Given the description of an element on the screen output the (x, y) to click on. 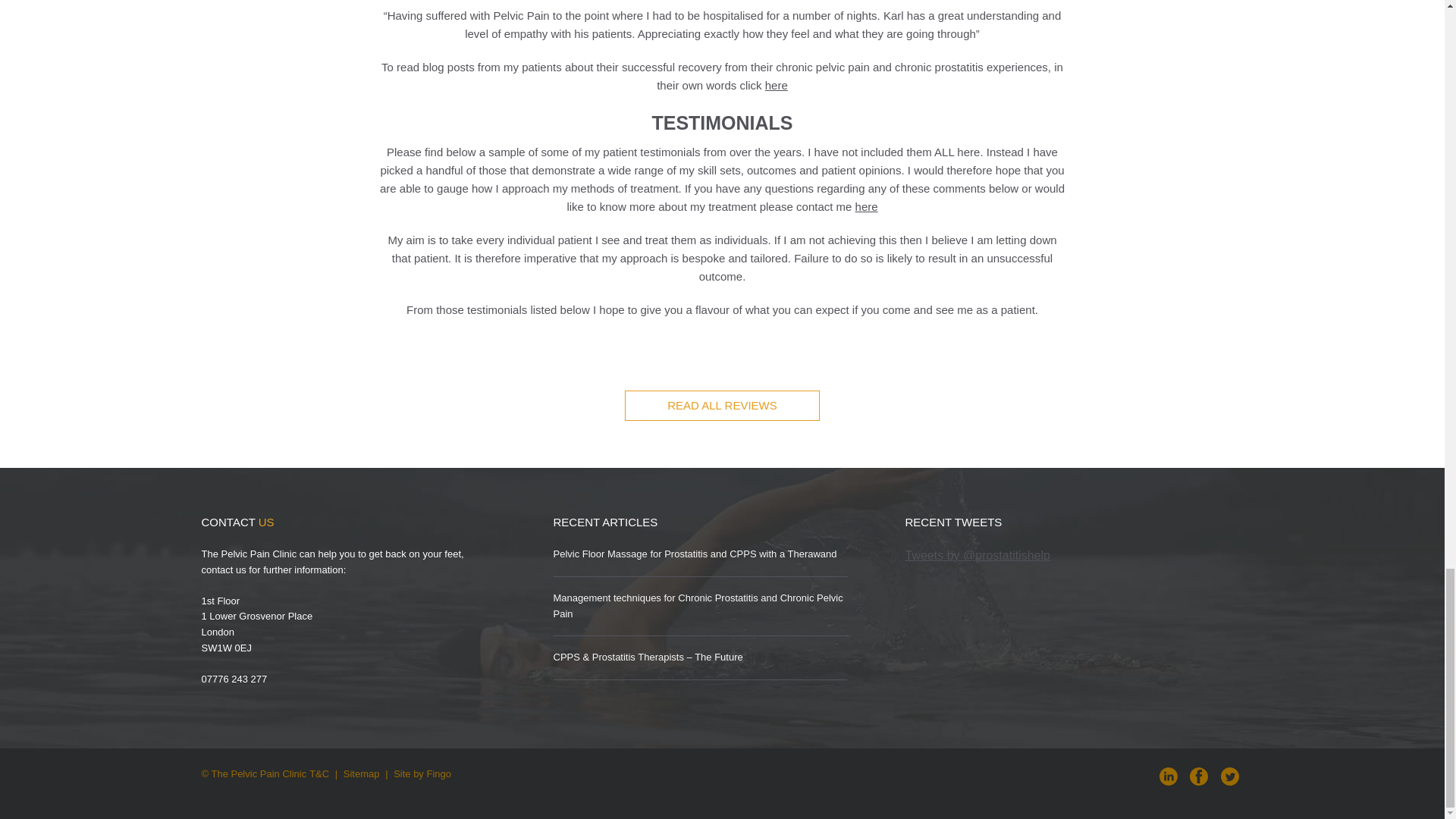
here (866, 205)
here (776, 84)
READ ALL REVIEWS (721, 405)
Facebook (1198, 775)
LinkedIn (1167, 775)
Twitter (1230, 775)
